Given the description of an element on the screen output the (x, y) to click on. 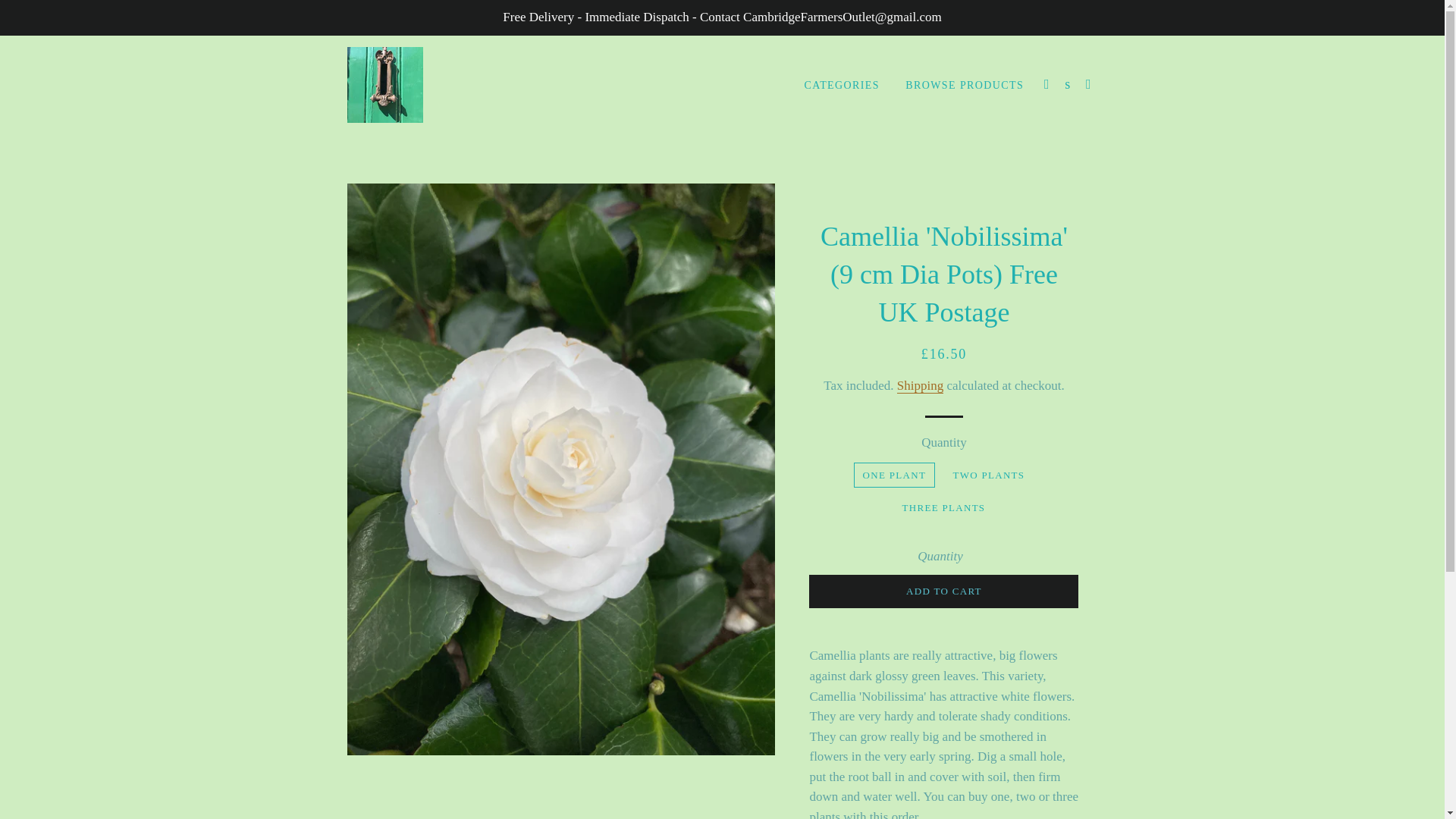
BROWSE PRODUCTS (964, 85)
Shipping (919, 385)
CATEGORIES (841, 85)
ADD TO CART (943, 591)
